Given the description of an element on the screen output the (x, y) to click on. 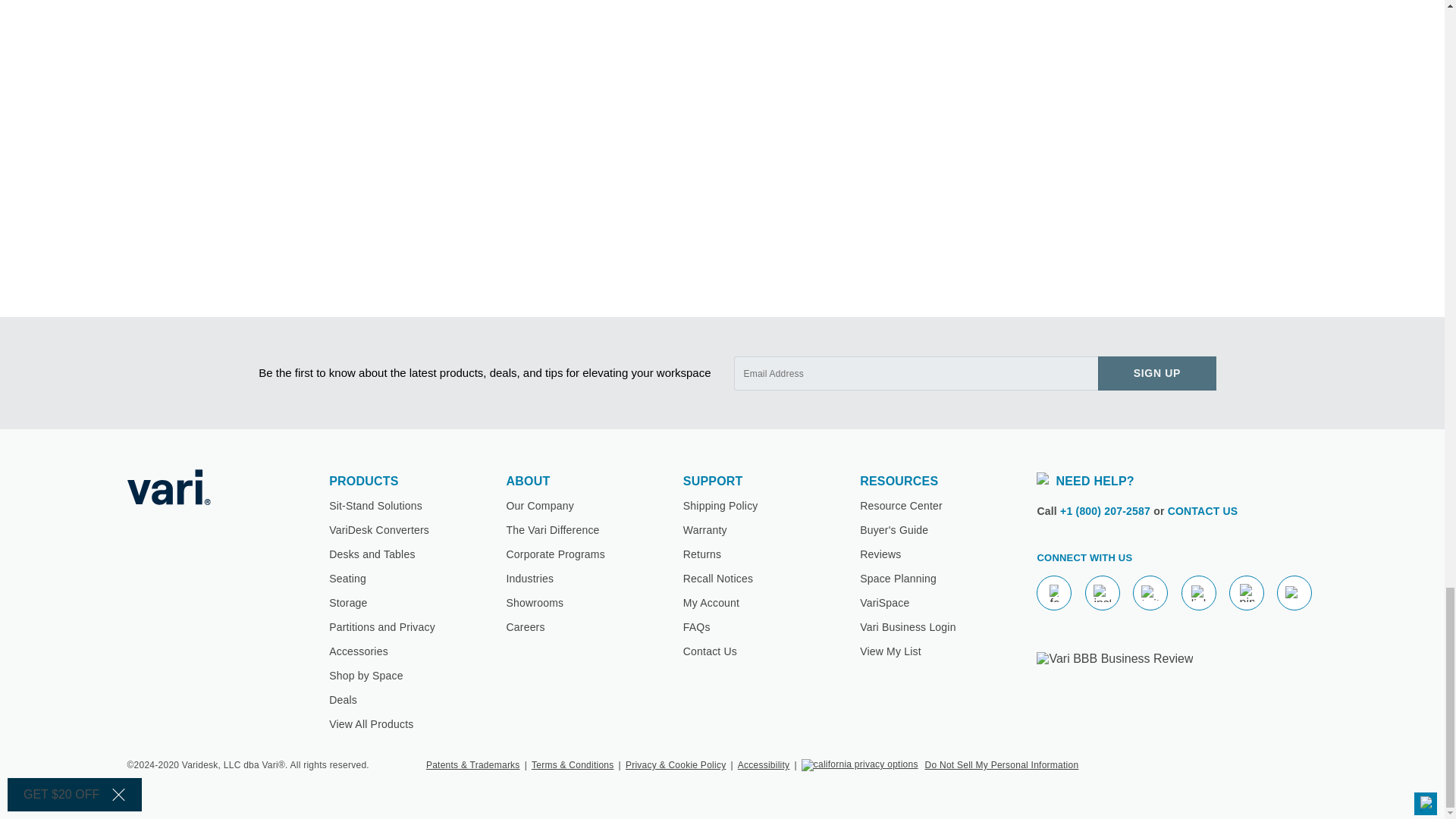
Go to Desk and Tables (371, 553)
Go to Sit Stand Solutions (375, 505)
Go to Partitions and Privacy (382, 626)
Go to VariDesk Converters (379, 530)
Go to Seating (347, 578)
Go to Storage (347, 603)
